Given the description of an element on the screen output the (x, y) to click on. 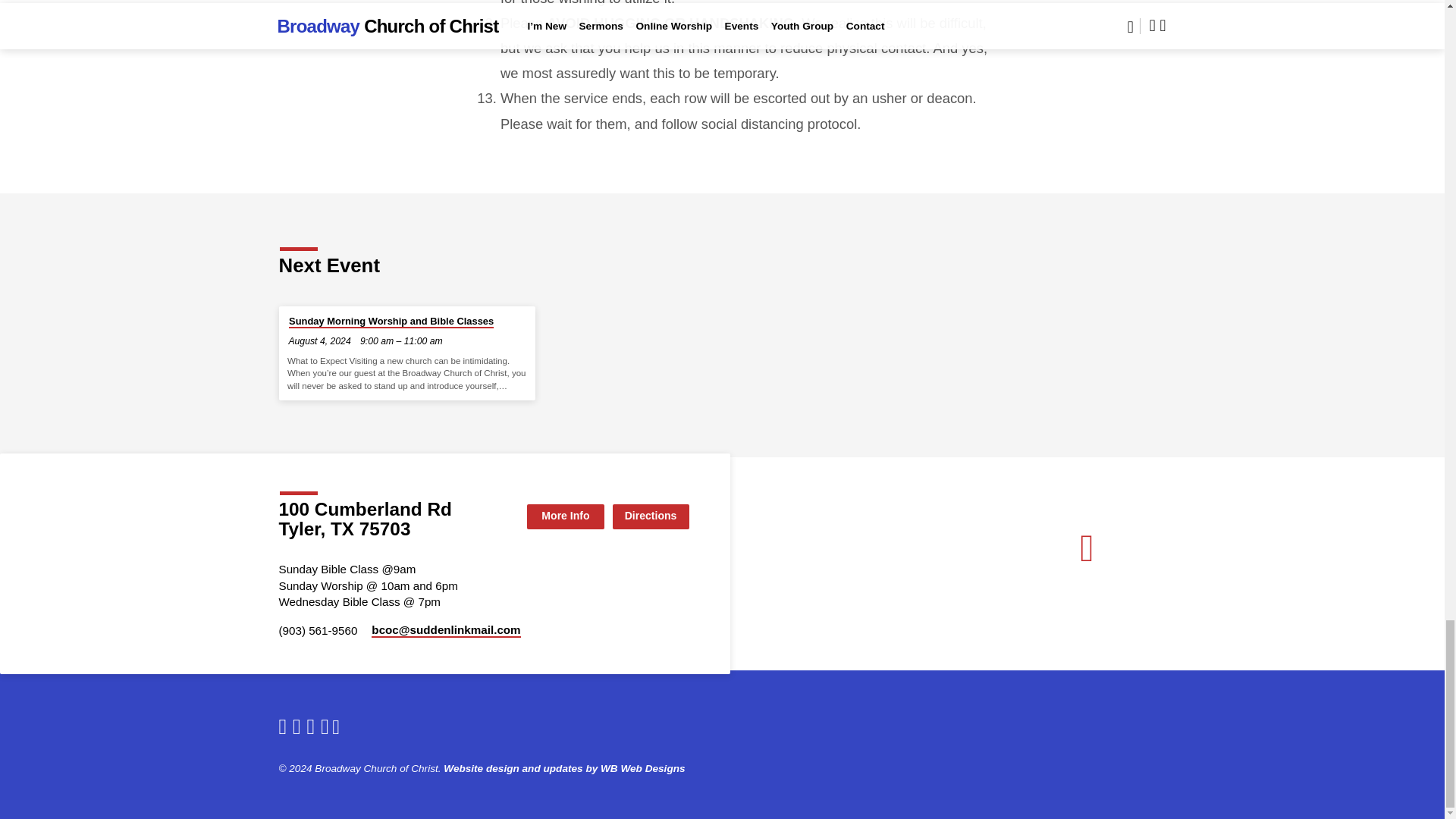
Directions (650, 516)
Website design and updates by WB Web Designs (564, 767)
Sunday Morning Worship and Bible Classes (390, 321)
More Info (565, 516)
Sunday Morning Worship and Bible Classes (390, 321)
